Given the description of an element on the screen output the (x, y) to click on. 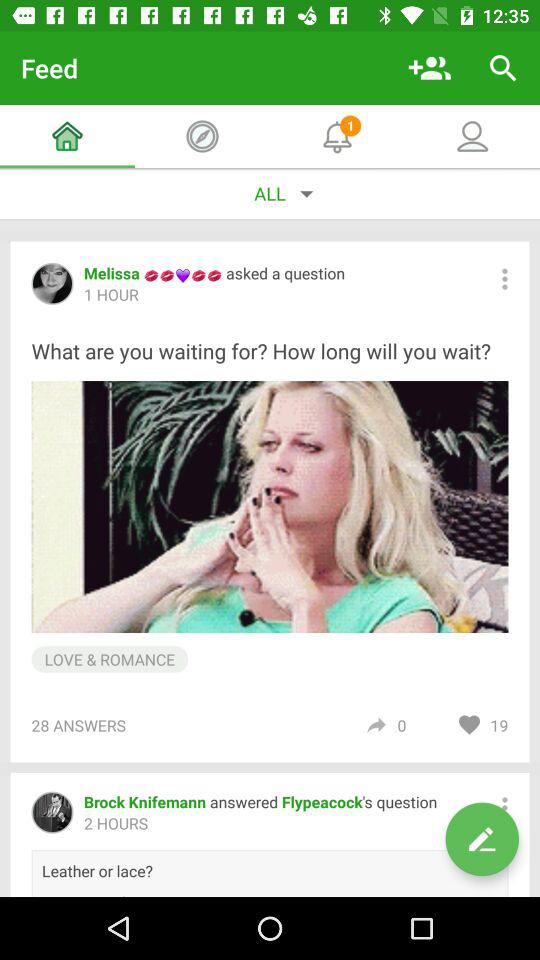
create new post (482, 839)
